Given the description of an element on the screen output the (x, y) to click on. 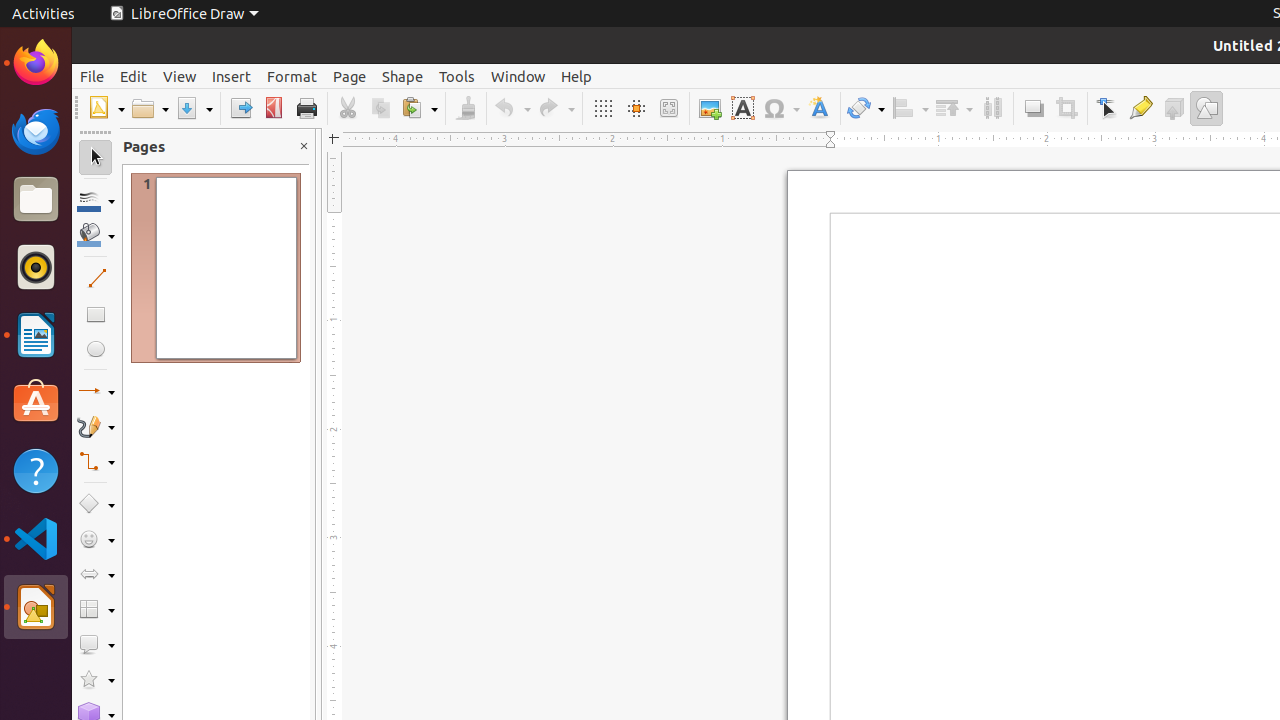
LibreOffice Draw Element type: menu (183, 13)
Helplines While Moving Element type: toggle-button (635, 108)
Line Element type: push-button (95, 278)
Fontwork Style Element type: toggle-button (819, 108)
Line Color Element type: push-button (96, 200)
